Given the description of an element on the screen output the (x, y) to click on. 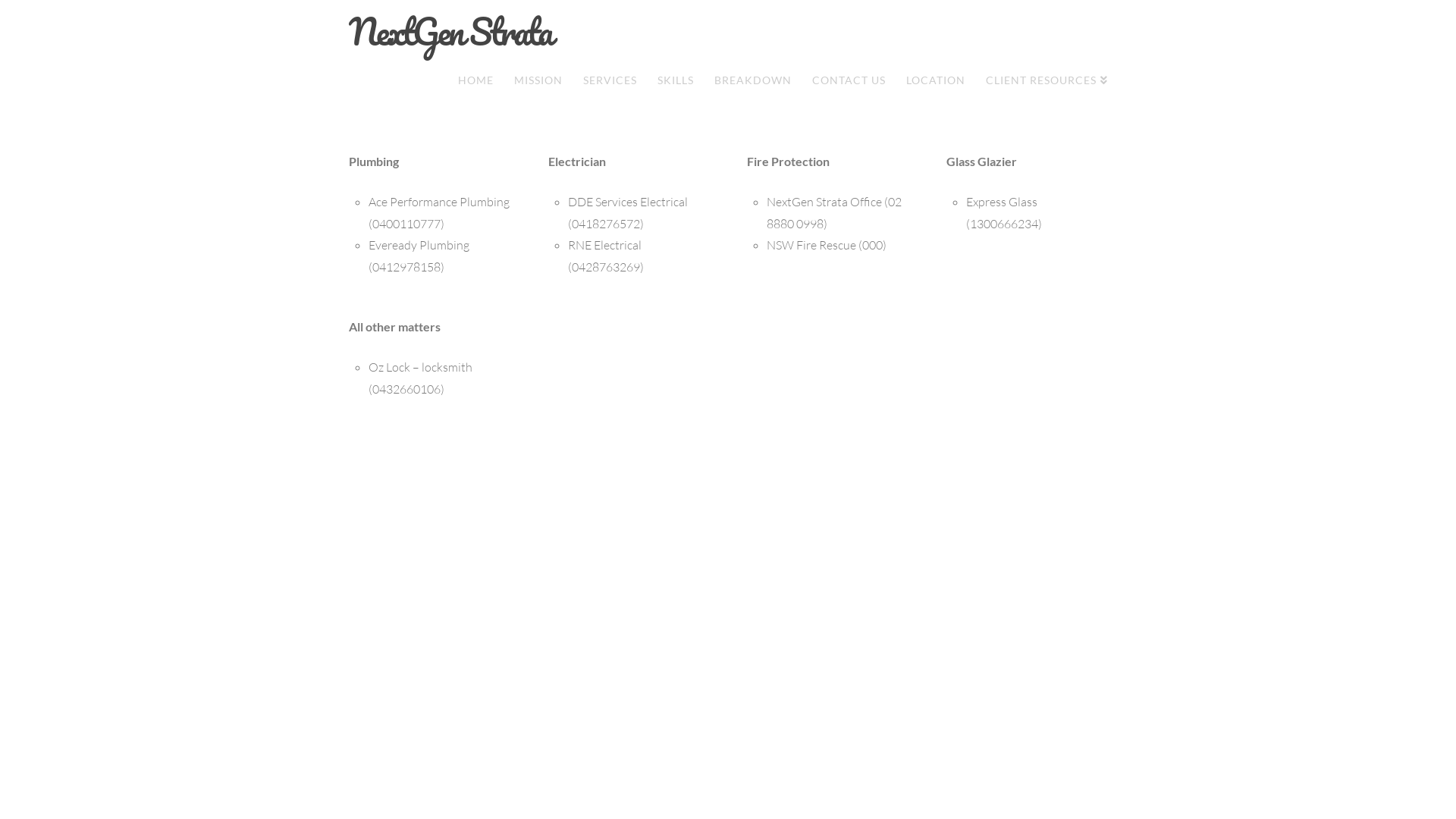
SERVICES Element type: text (609, 82)
BREAKDOWN Element type: text (752, 82)
NextGen Strata Element type: text (449, 31)
SKILLS Element type: text (674, 82)
CONTACT US Element type: text (848, 82)
CLIENT RESOURCES Element type: text (1041, 82)
MISSION Element type: text (537, 82)
LOCATION Element type: text (935, 82)
HOME Element type: text (475, 82)
